Given the description of an element on the screen output the (x, y) to click on. 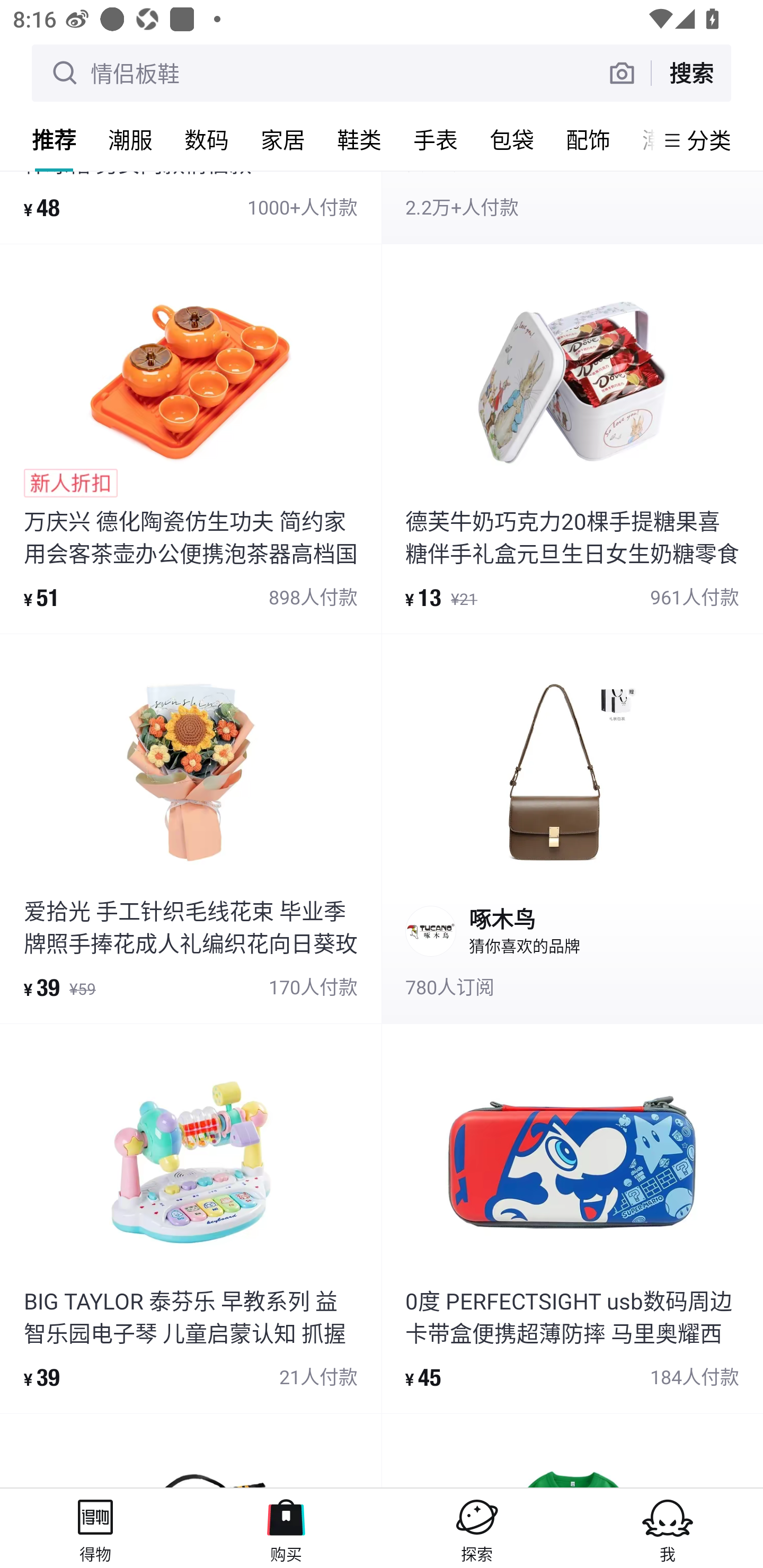
搜索 (690, 72)
推荐 (54, 139)
潮服 (130, 139)
数码 (206, 139)
家居 (282, 139)
鞋类 (359, 139)
手表 (435, 139)
包袋 (511, 139)
配饰 (588, 139)
分类 (708, 139)
啄木鸟 猜你喜欢的品牌 780人订阅 (572, 828)
得物 (95, 1528)
购买 (285, 1528)
探索 (476, 1528)
我 (667, 1528)
